Given the description of an element on the screen output the (x, y) to click on. 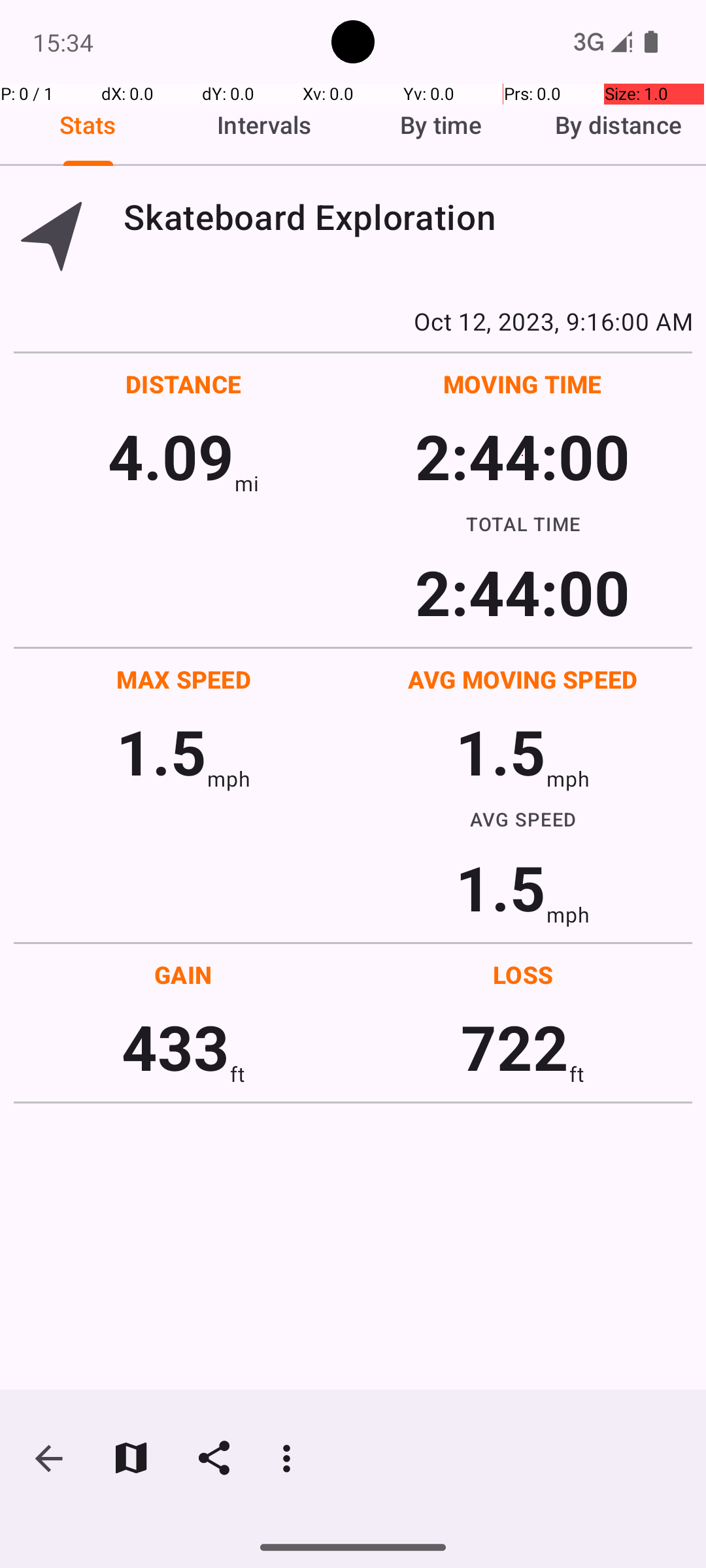
Skateboard Exploration Element type: android.widget.TextView (407, 216)
Oct 12, 2023, 9:16:00 AM Element type: android.widget.TextView (352, 320)
4.09 Element type: android.widget.TextView (170, 455)
2:44:00 Element type: android.widget.TextView (522, 455)
1.5 Element type: android.widget.TextView (161, 750)
433 Element type: android.widget.TextView (175, 1045)
722 Element type: android.widget.TextView (514, 1045)
